Given the description of an element on the screen output the (x, y) to click on. 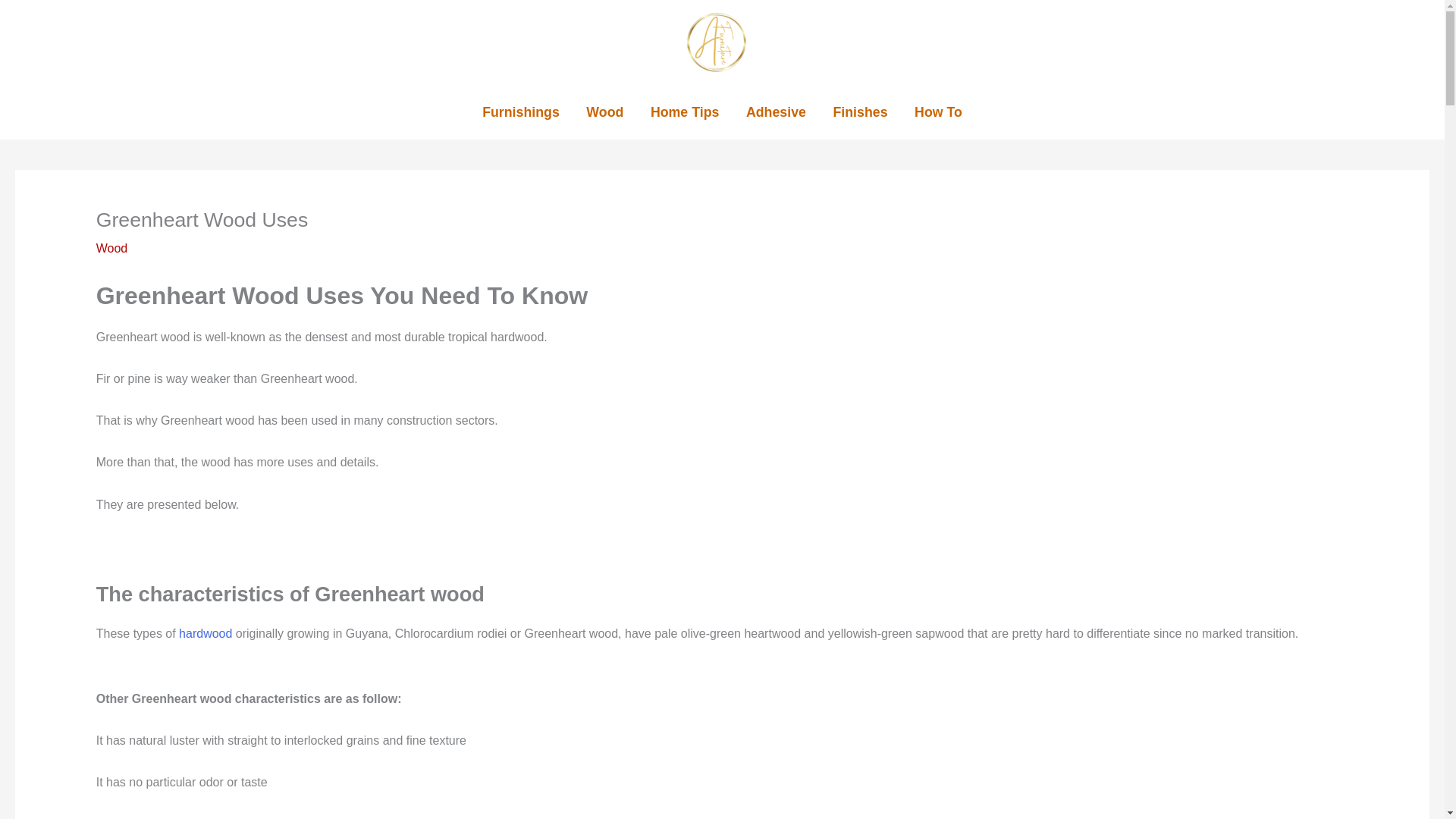
Adhesive (775, 112)
hardwood (205, 633)
Finishes (860, 112)
Wood (605, 112)
How To (938, 112)
Home Tips (684, 112)
Furnishings (520, 112)
Wood (112, 247)
